Given the description of an element on the screen output the (x, y) to click on. 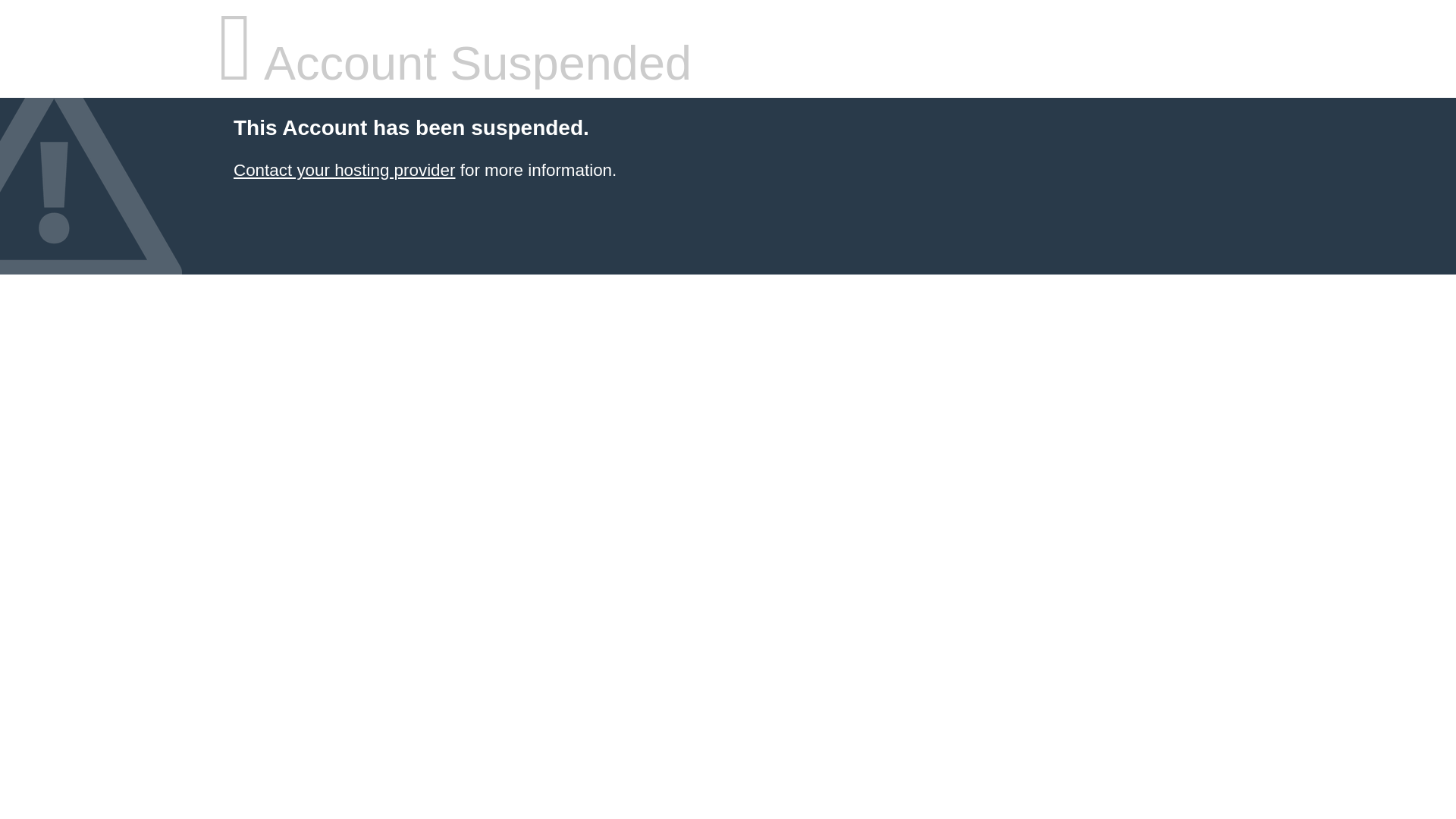
Contact your hosting provider (343, 169)
